Given the description of an element on the screen output the (x, y) to click on. 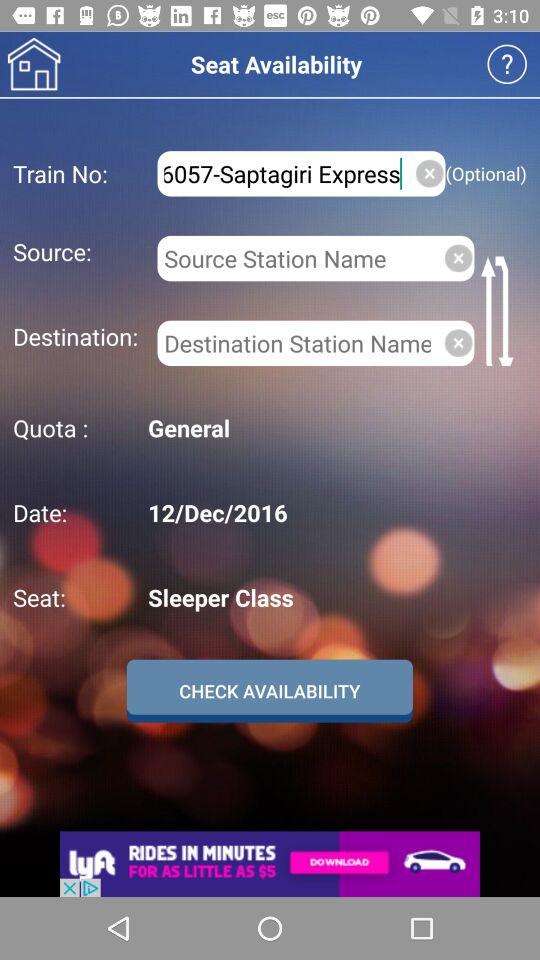
scroll to 16057-saptagiri express (282, 173)
